Given the description of an element on the screen output the (x, y) to click on. 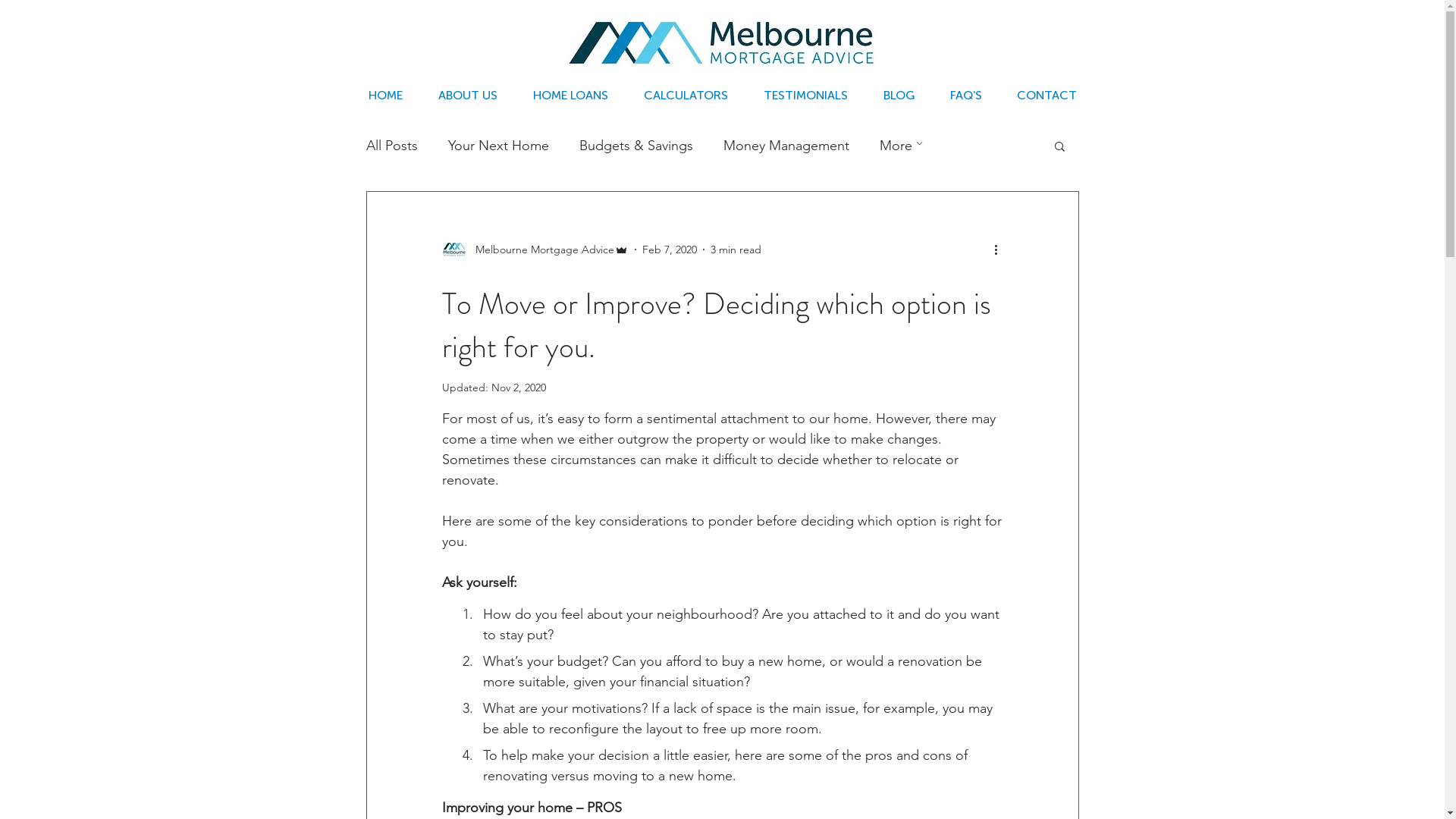
HOME Element type: text (385, 94)
CALCULATORS Element type: text (686, 94)
Your Next Home Element type: text (497, 145)
ABOUT US Element type: text (467, 94)
CONTACT Element type: text (1046, 94)
TESTIMONIALS Element type: text (806, 94)
Budgets & Savings Element type: text (636, 145)
BLOG Element type: text (899, 94)
FAQ'S Element type: text (965, 94)
All Posts Element type: text (391, 145)
HOME LOANS Element type: text (570, 94)
Money Management Element type: text (786, 145)
